Given the description of an element on the screen output the (x, y) to click on. 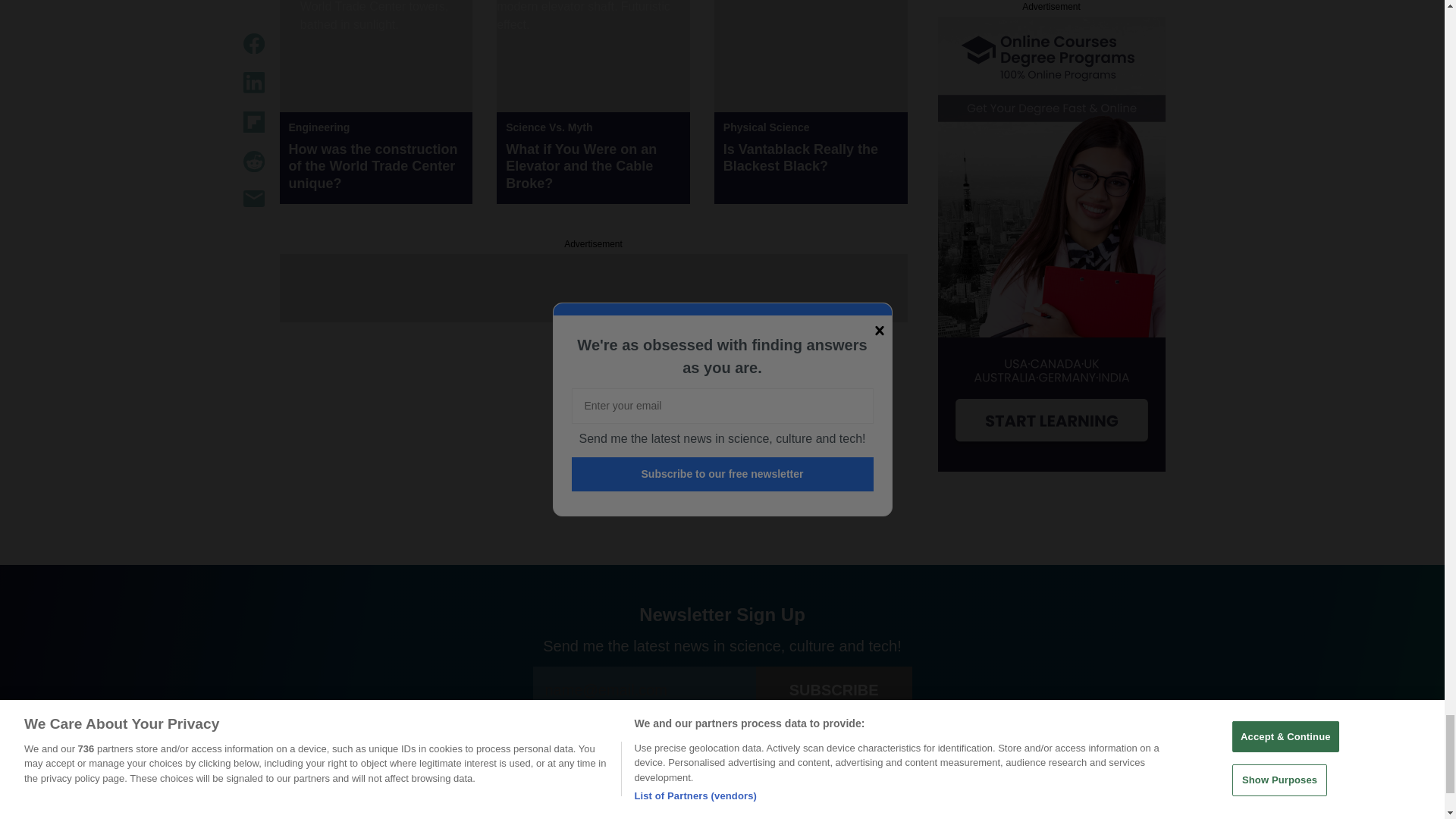
Subscribe (833, 689)
